Given the description of an element on the screen output the (x, y) to click on. 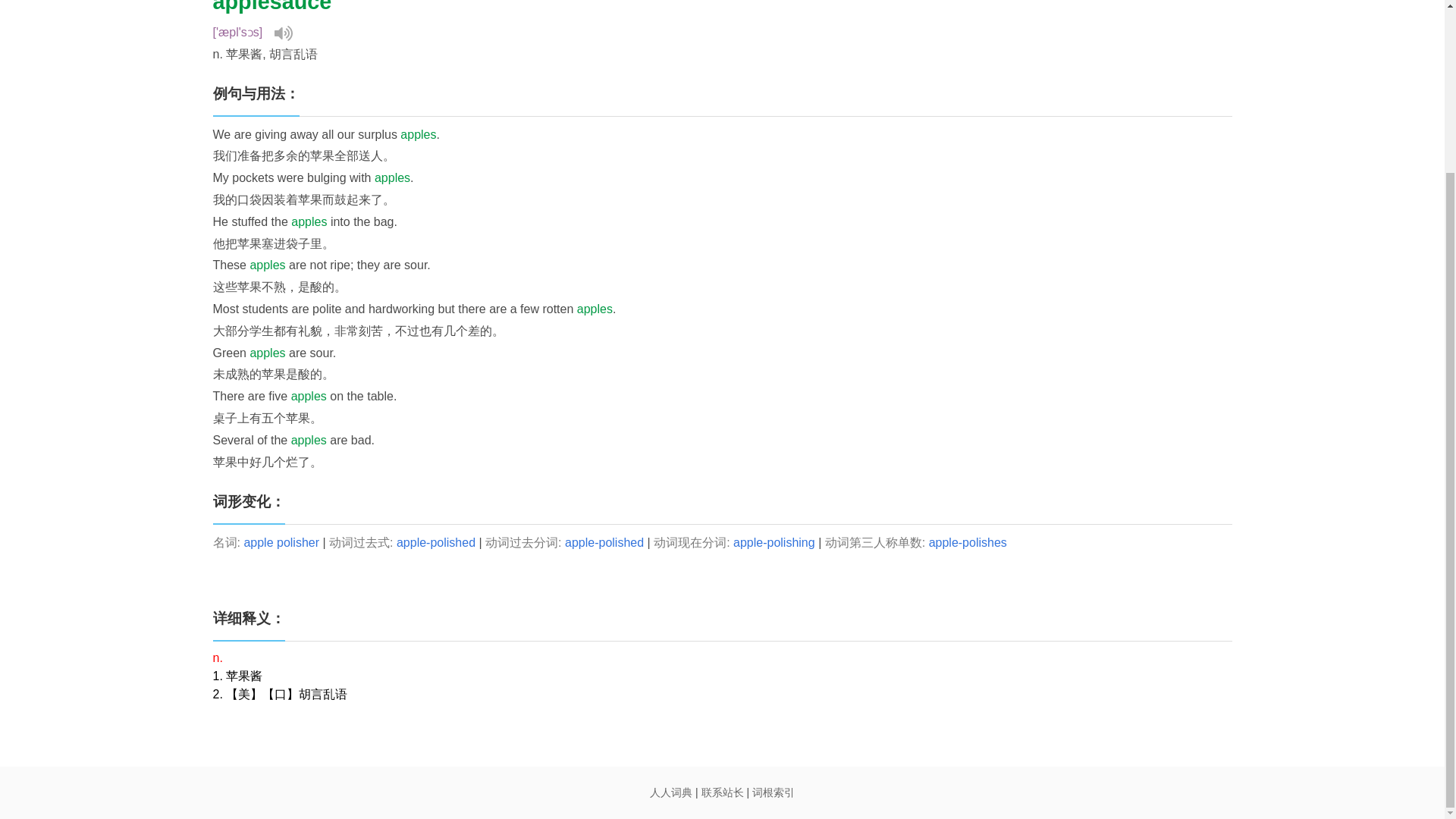
apple polisher (280, 542)
apple-polished (603, 542)
apple-polished (436, 542)
apple-polishing (774, 542)
apple-polishes (967, 542)
